Given the description of an element on the screen output the (x, y) to click on. 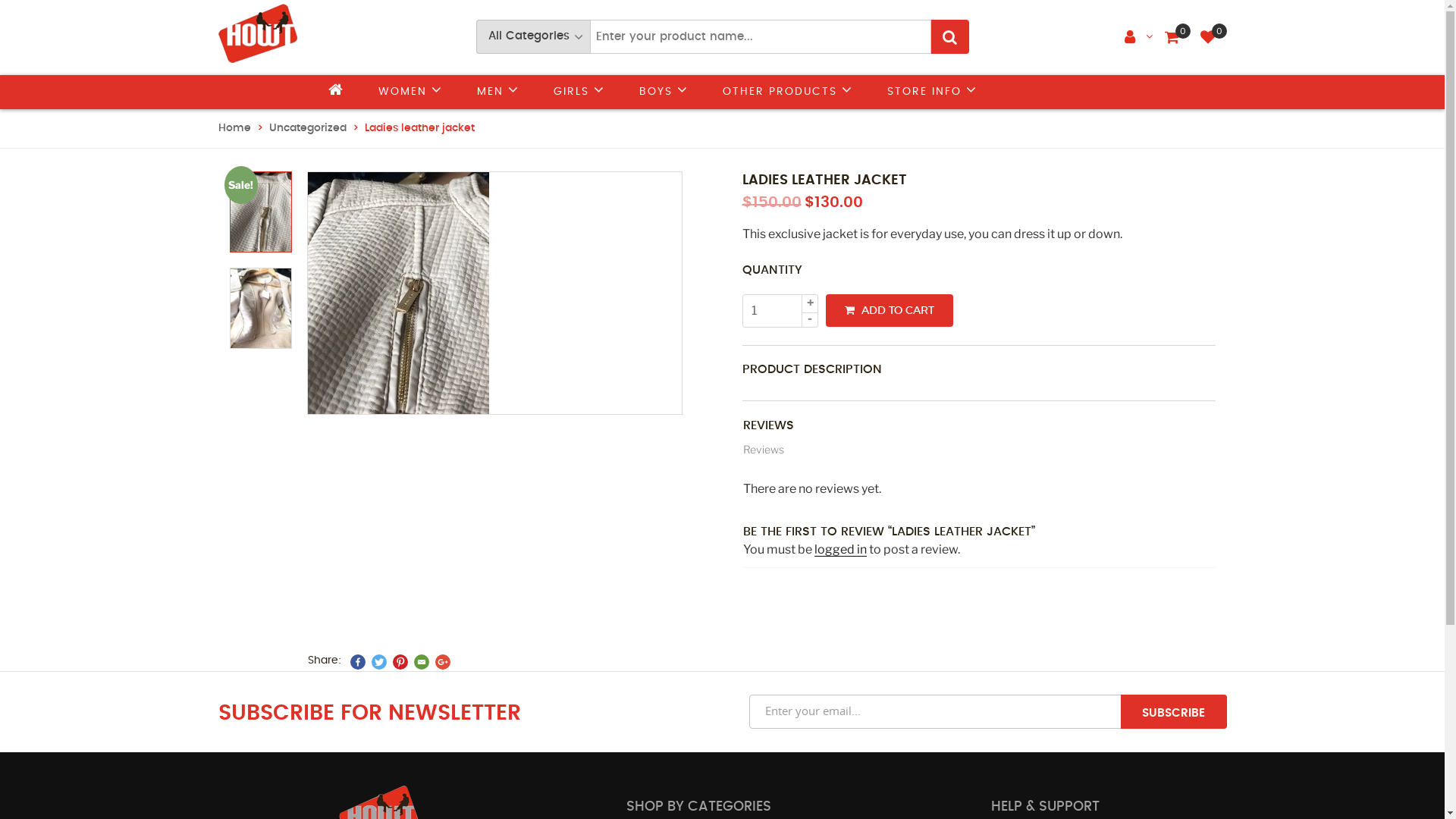
0 Element type: text (1206, 38)
Google plus Element type: hover (442, 661)
0 Element type: text (1171, 38)
MEN Element type: text (497, 92)
ADD TO CART Element type: text (888, 310)
BOYS Element type: text (662, 92)
Twitter Element type: hover (378, 661)
GIRLS Element type: text (579, 92)
STORE INFO Element type: text (932, 92)
Search Element type: text (950, 36)
WOMEN Element type: text (409, 92)
Subscribe Element type: text (1173, 711)
Pinterest Element type: hover (399, 661)
Facebook Element type: hover (357, 661)
Home Element type: text (234, 127)
Email Element type: hover (421, 661)
logged in Element type: text (840, 549)
OTHER PRODUCTS Element type: text (786, 92)
Uncategorized Element type: text (306, 127)
